Given the description of an element on the screen output the (x, y) to click on. 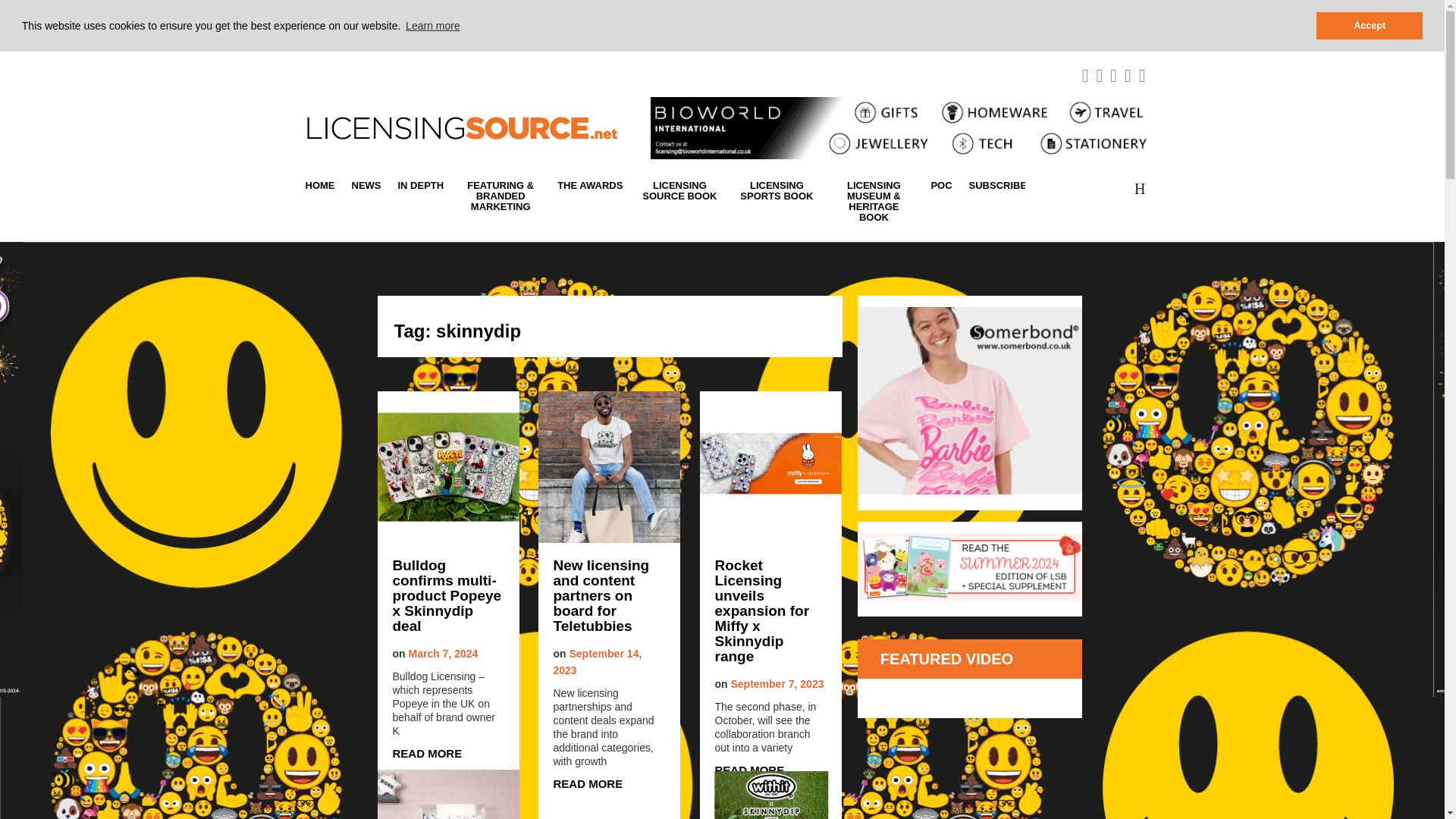
Learn more (432, 25)
Accept (1369, 25)
New licensing and content partners on board for Teletubbies (609, 595)
IN DEPTH (421, 185)
Bulldog confirms multi-product Popeye x Skinnydip deal (449, 595)
HOME (323, 185)
THE AWARDS (589, 185)
YouTube video player (970, 741)
NEWS (365, 185)
